Given the description of an element on the screen output the (x, y) to click on. 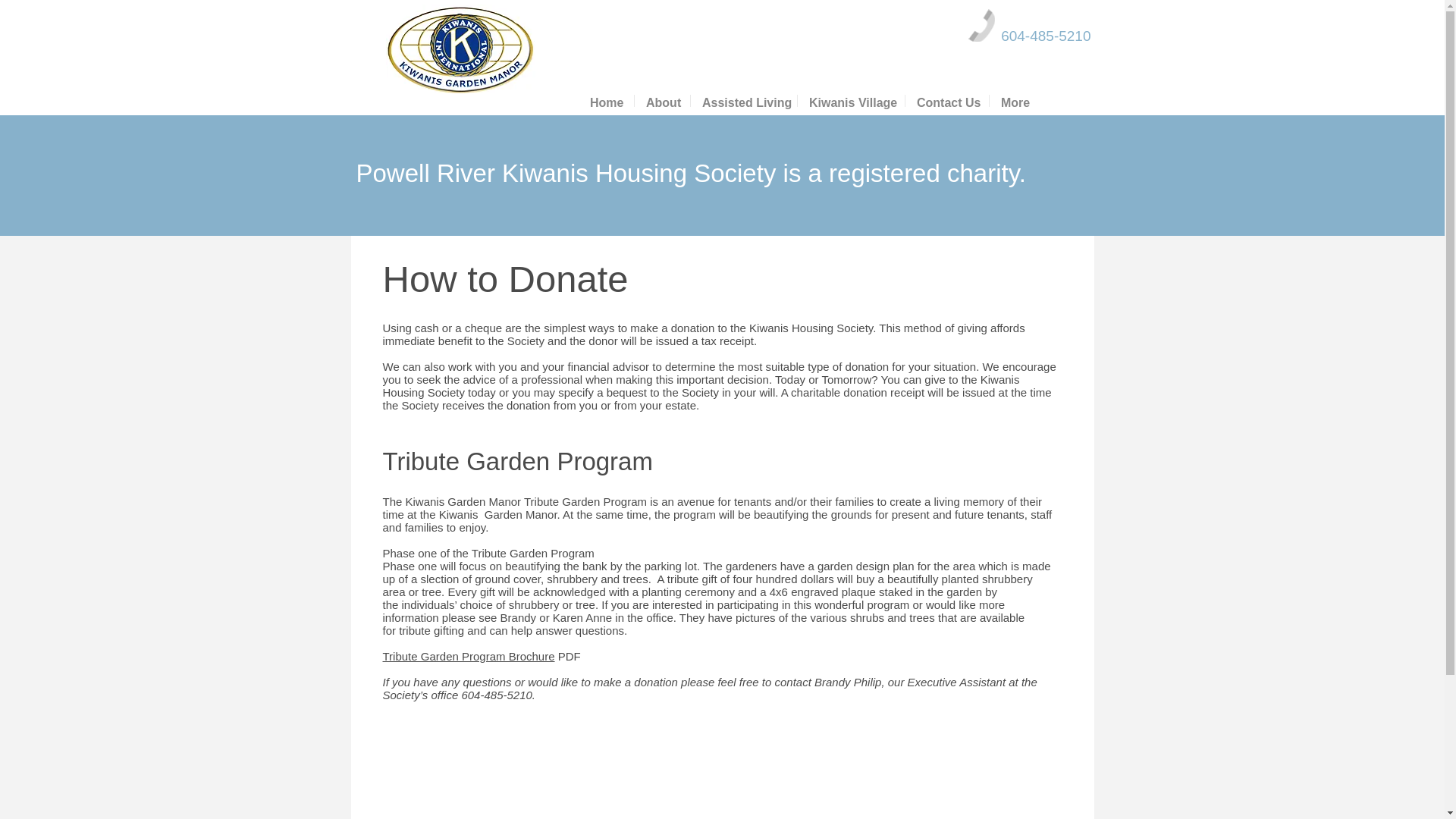
Logo.jpg (459, 48)
Tribute Garden Program Brochure (467, 656)
Contact Us (946, 101)
Home (605, 101)
Kiwanis Village (850, 101)
About (662, 101)
Assisted Living (743, 101)
